Given the description of an element on the screen output the (x, y) to click on. 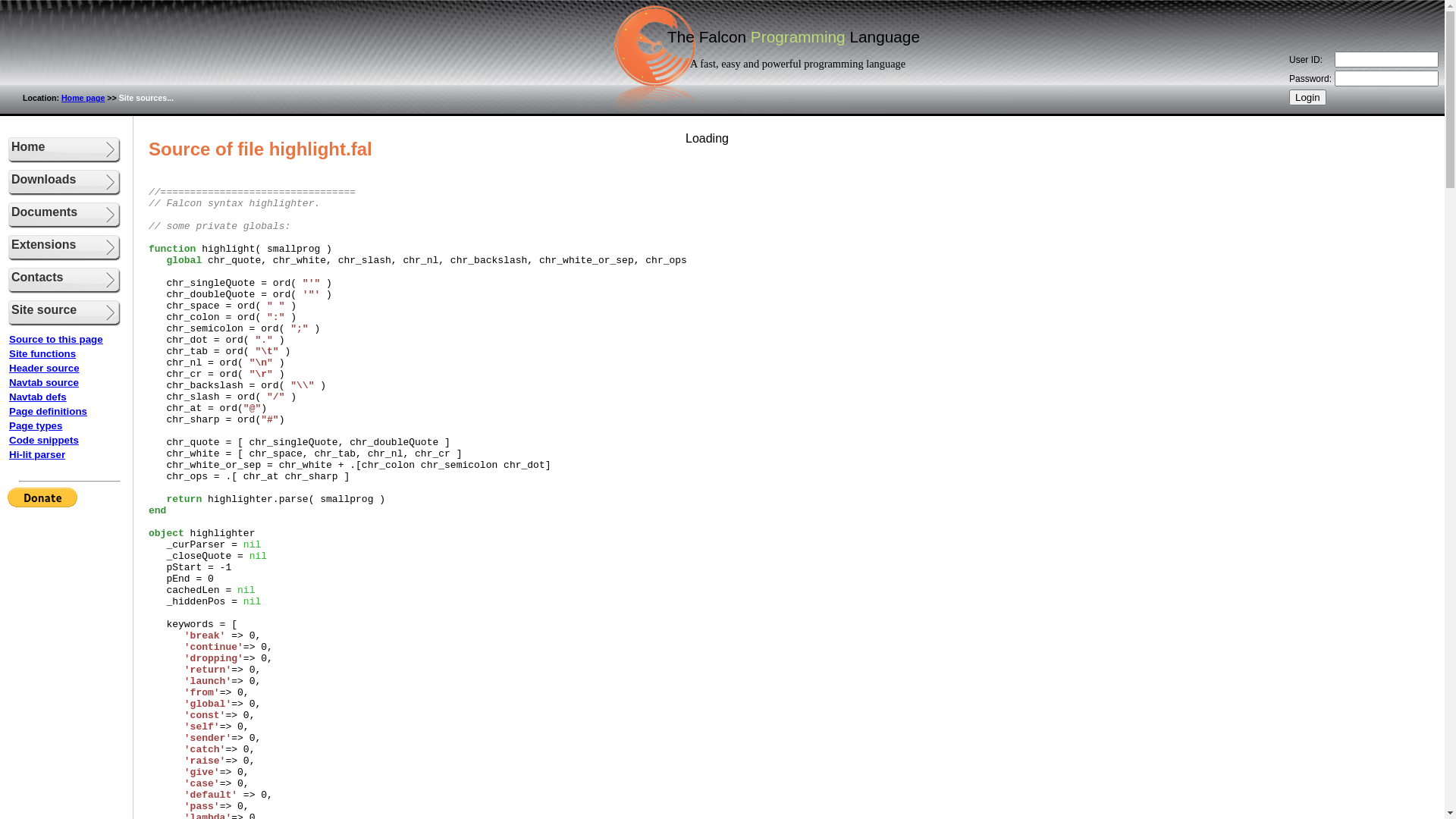
Page definitions Element type: text (48, 411)
Home page Element type: text (82, 97)
Navtab defs Element type: text (37, 396)
Navtab source Element type: text (43, 382)
Source to this page Element type: text (56, 339)
Login Element type: text (1307, 97)
Hi-lit parser Element type: text (37, 454)
Page types Element type: text (35, 425)
Site functions Element type: text (42, 353)
Header source Element type: text (44, 367)
Code snippets Element type: text (43, 439)
